Given the description of an element on the screen output the (x, y) to click on. 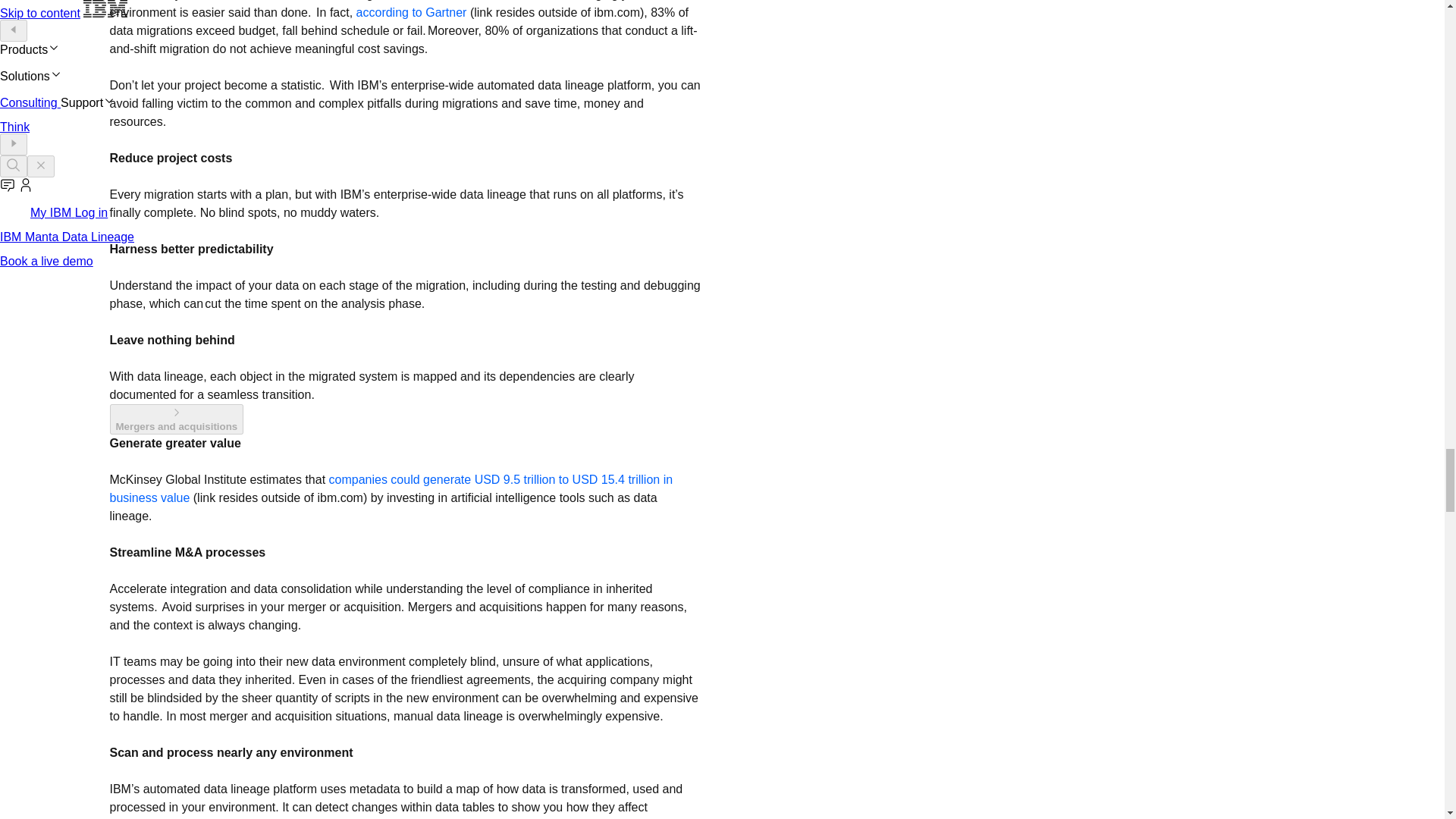
according to Gartner (413, 11)
